Given the description of an element on the screen output the (x, y) to click on. 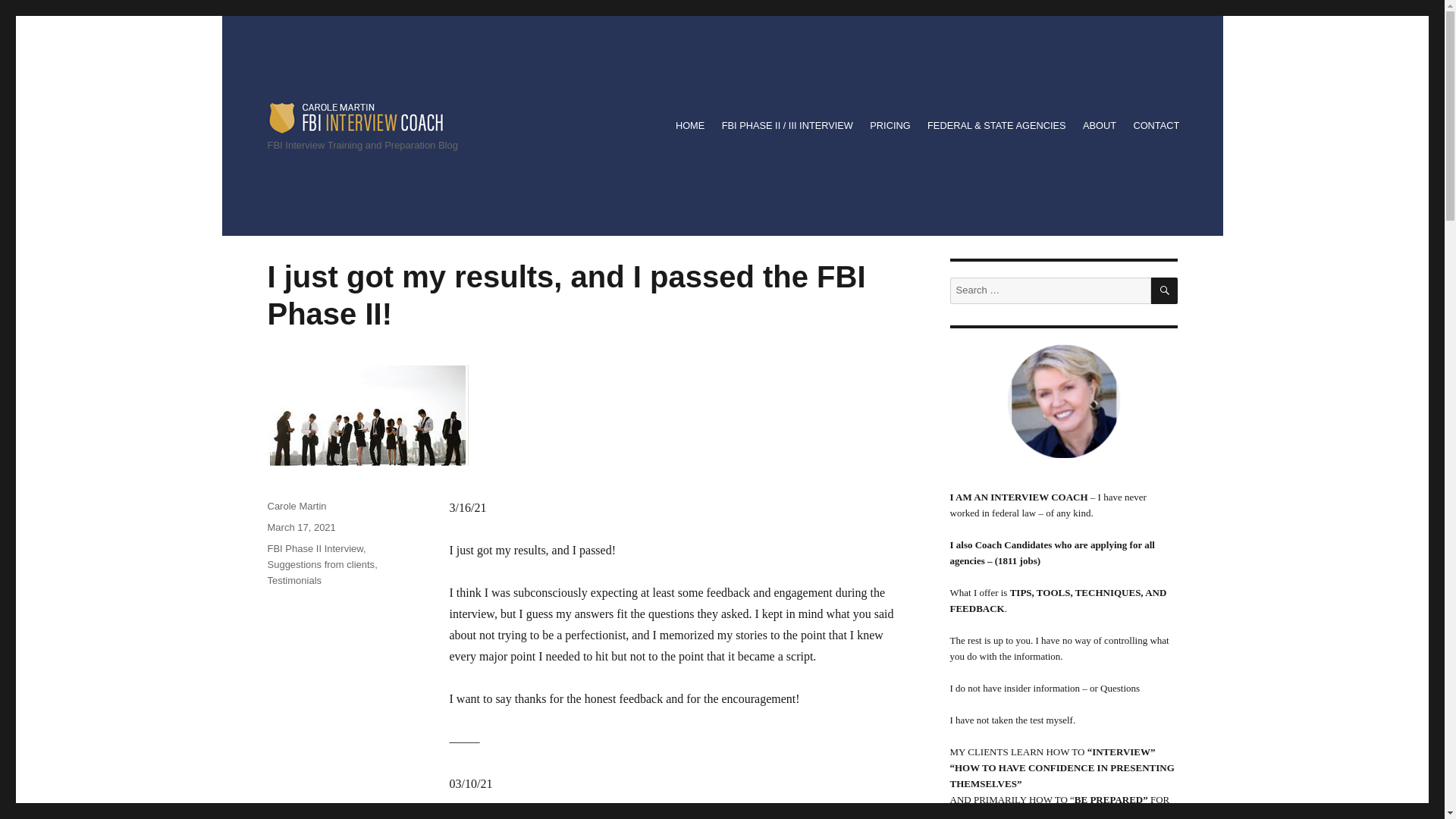
Carole Martin (296, 505)
PRICING (889, 125)
SEARCH (1164, 290)
March 17, 2021 (300, 527)
FBI Phase II Interview (314, 548)
HOME (689, 125)
Suggestions from clients (320, 564)
Testimonials (293, 580)
ABOUT (1099, 125)
CONTACT (1156, 125)
